Given the description of an element on the screen output the (x, y) to click on. 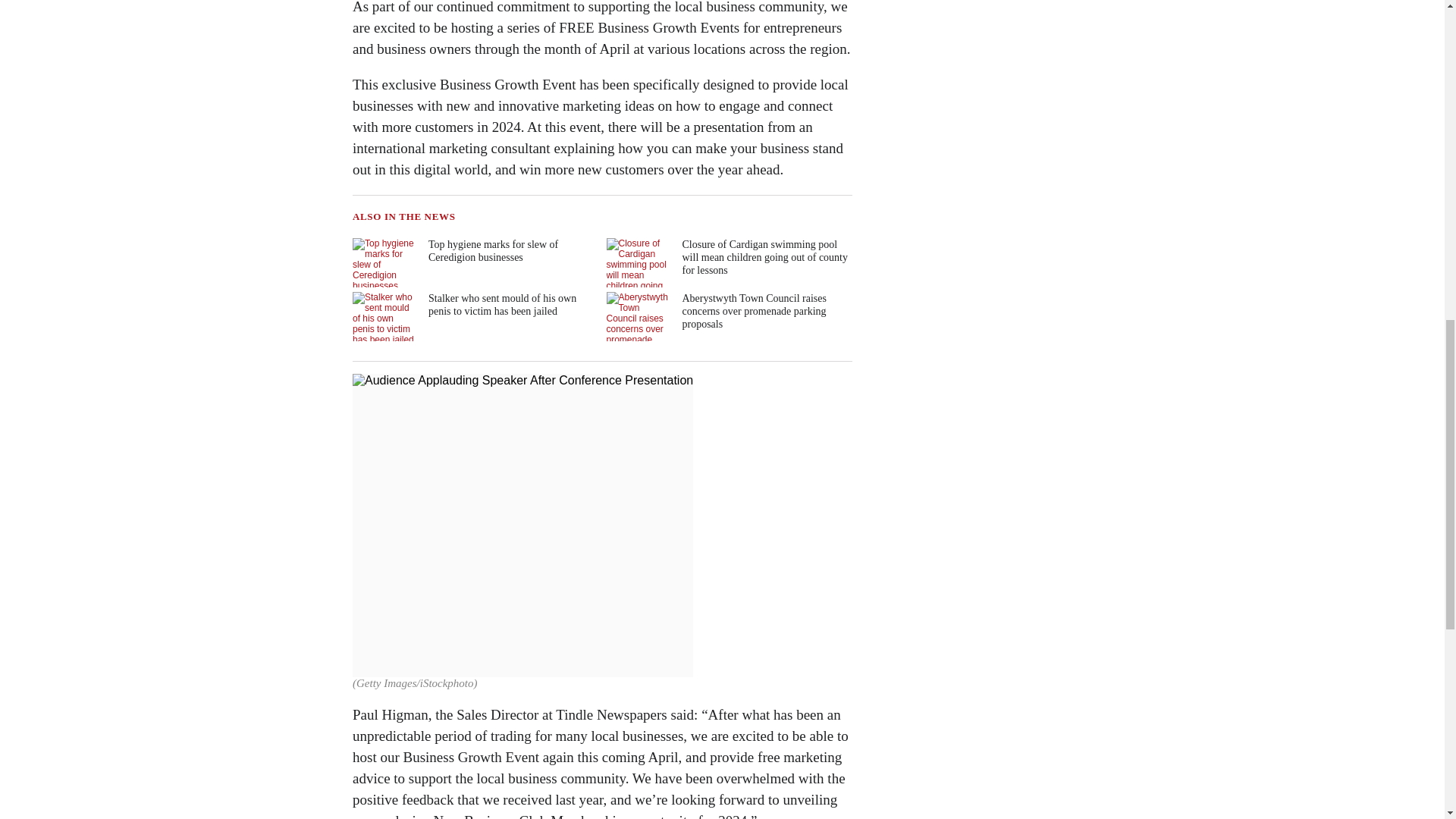
Top hygiene marks for slew of Ceredigion businesses (473, 262)
